Given the description of an element on the screen output the (x, y) to click on. 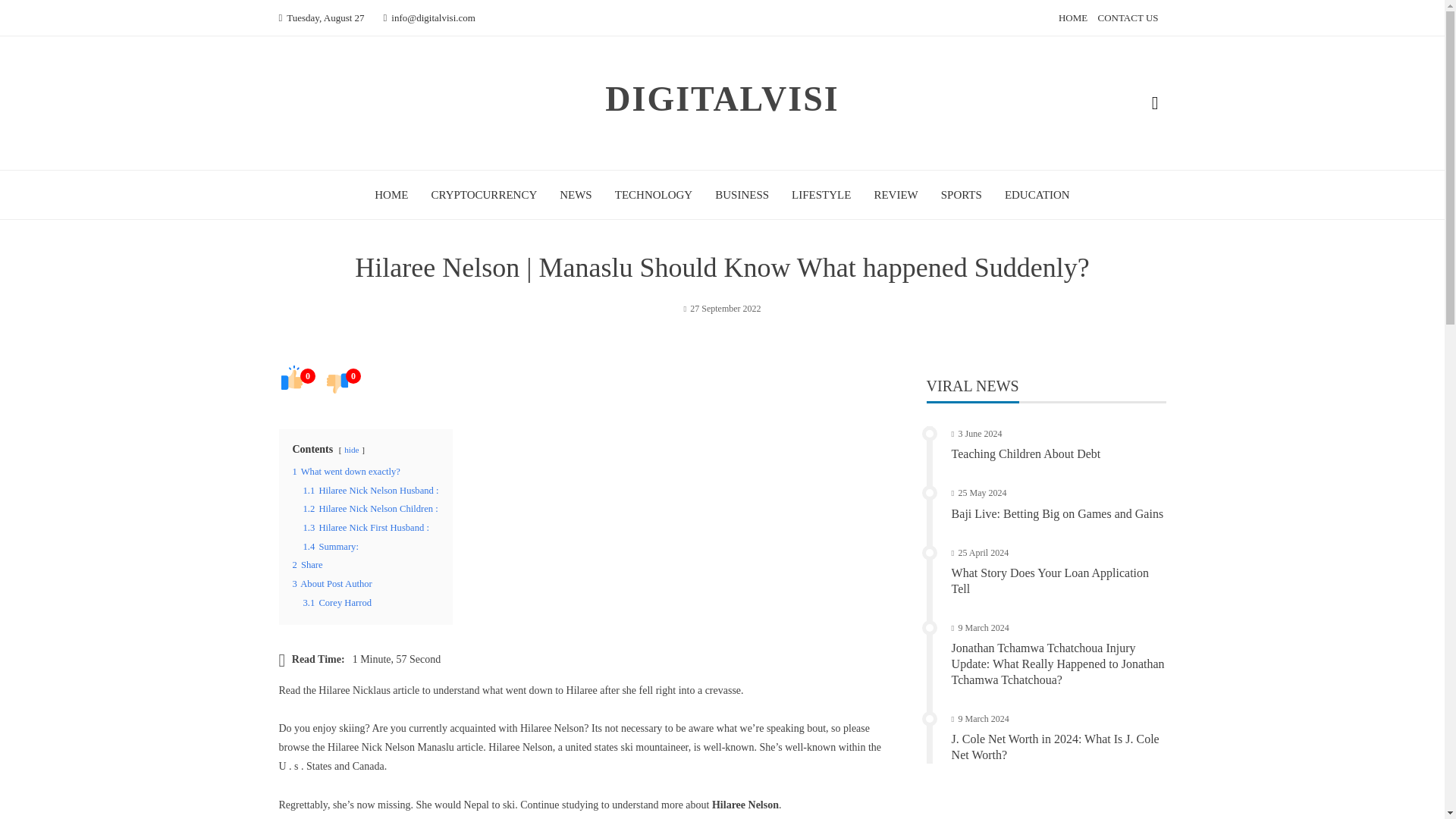
HOME (390, 194)
1.4 Summary: (330, 546)
CRYPTOCURRENCY (483, 194)
hide (350, 449)
1.3 Hilaree Nick First Husband : (365, 527)
REVIEW (895, 194)
LIFESTYLE (821, 194)
1 What went down exactly? (346, 471)
SPORTS (960, 194)
3 About Post Author (332, 583)
